Given the description of an element on the screen output the (x, y) to click on. 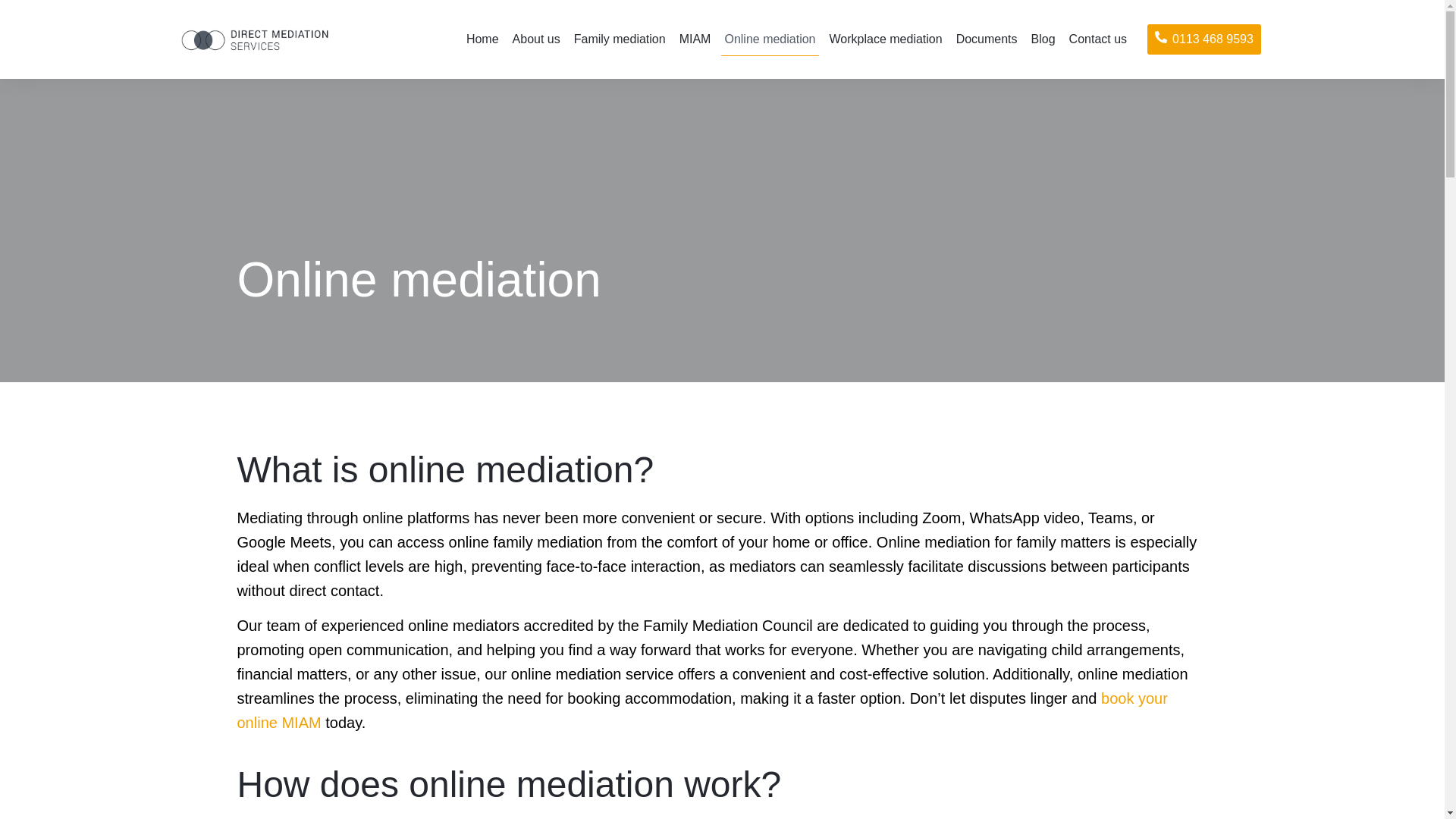
Blog (1042, 39)
MIAM (695, 39)
Documents (986, 39)
Online mediation (769, 39)
Home (482, 39)
Contact us (1097, 39)
Family mediation (619, 39)
book your online MIAM (701, 710)
Workplace mediation (885, 39)
About us (536, 39)
0113 468 9593 (1203, 39)
